Given the description of an element on the screen output the (x, y) to click on. 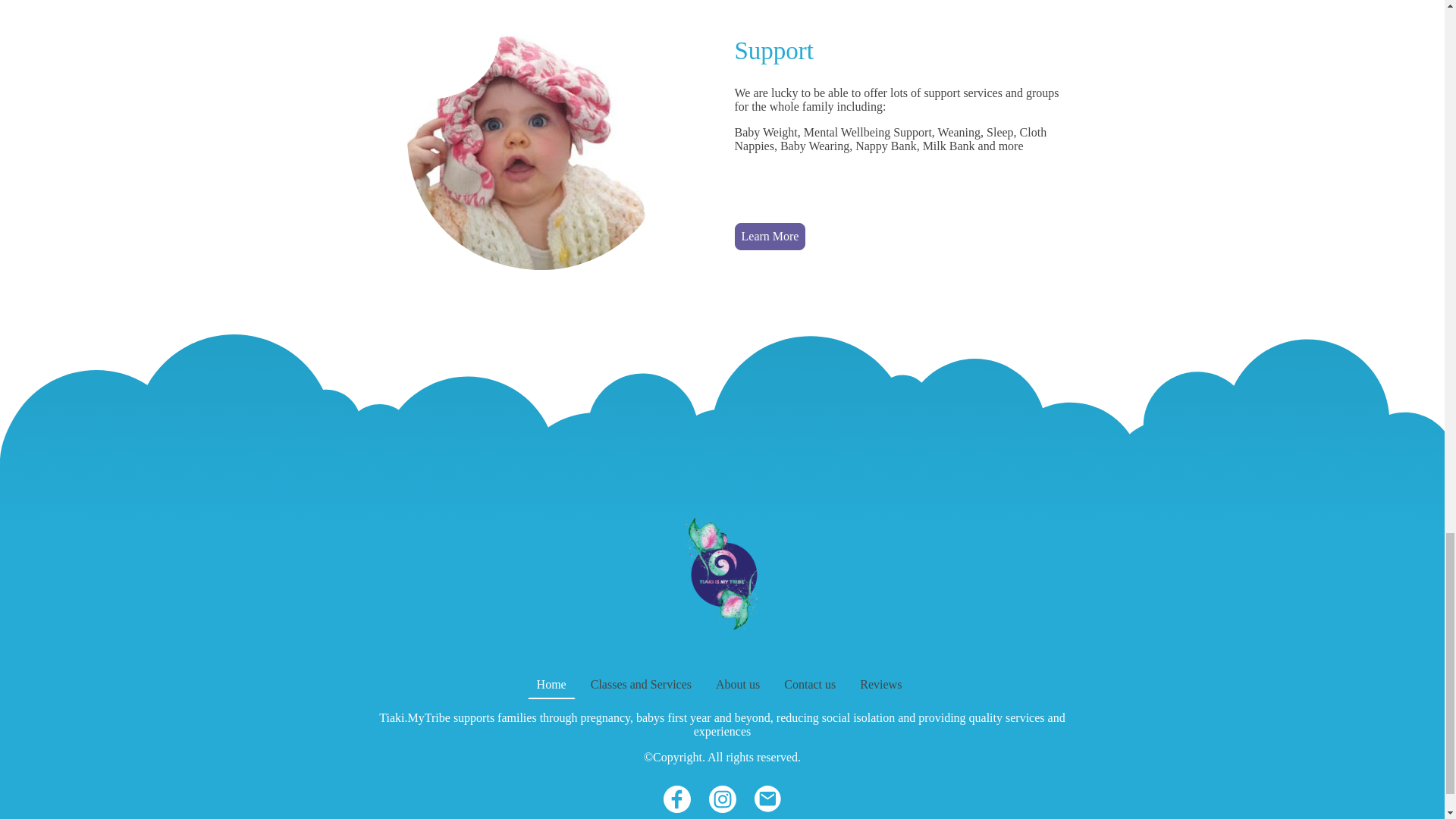
Home (551, 684)
Classes and Services (640, 684)
Reviews (879, 684)
About us (737, 684)
Contact us (809, 684)
Learn More (769, 236)
